Given the description of an element on the screen output the (x, y) to click on. 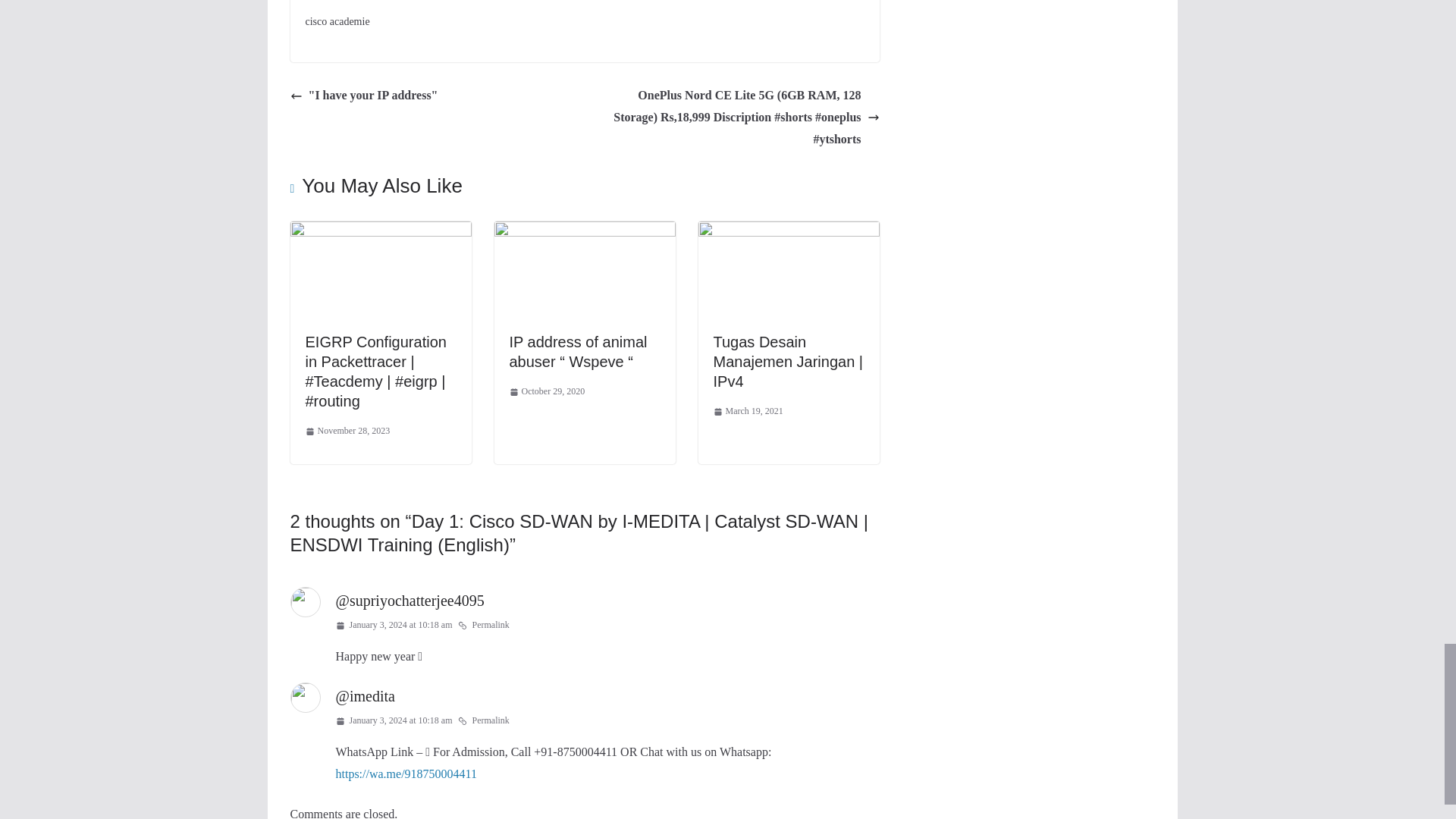
3:09 pm (347, 431)
November 28, 2023 (347, 431)
"I have your IP address" (363, 96)
October 29, 2020 (547, 392)
